Given the description of an element on the screen output the (x, y) to click on. 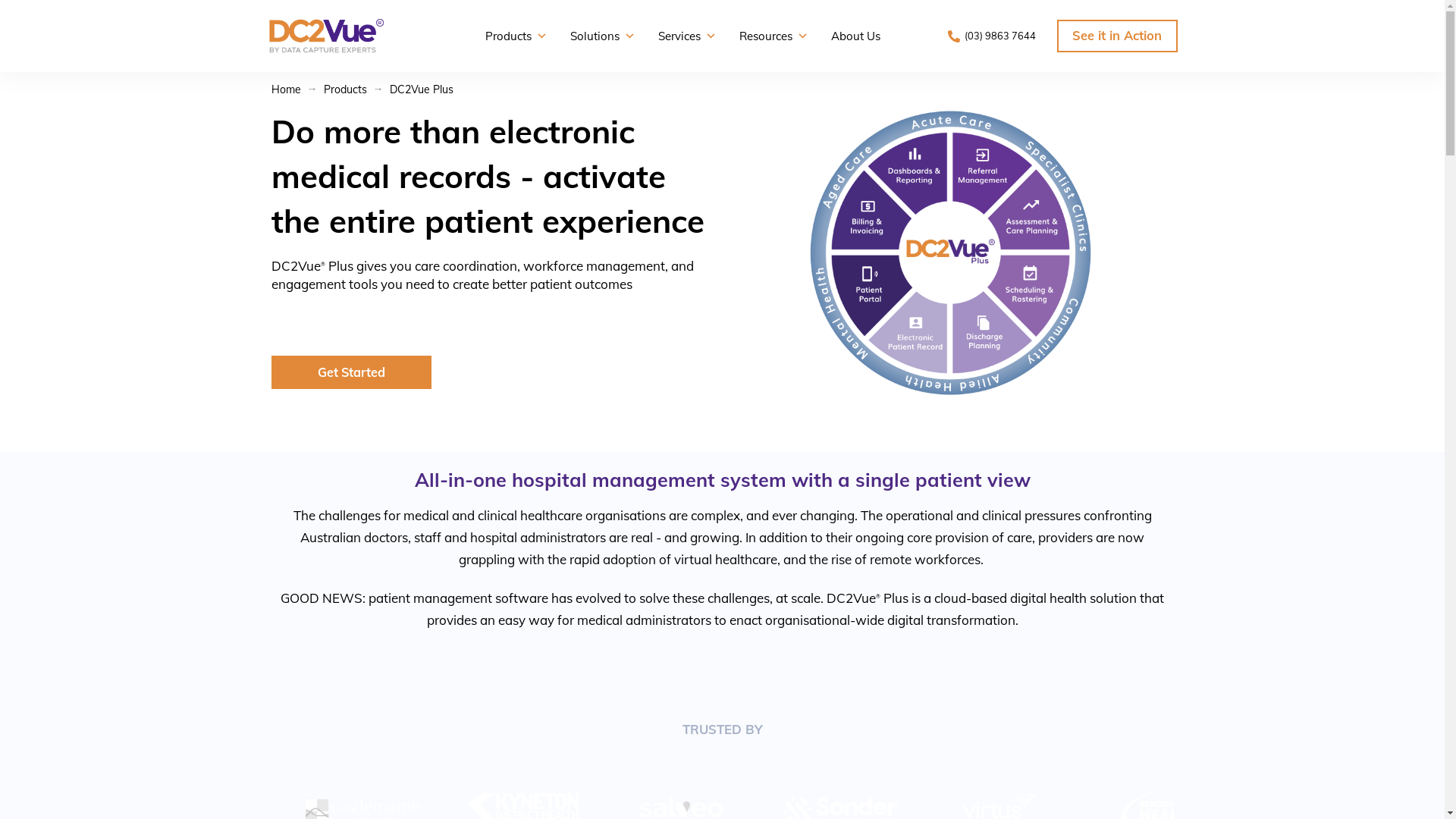
Products Element type: text (516, 36)
Products Element type: text (344, 89)
About Us Element type: text (855, 36)
Get Started Element type: text (351, 371)
Home Element type: text (286, 89)
DC2Vue Plus Element type: text (421, 89)
Services Element type: text (687, 36)
See it in Action Element type: text (1117, 35)
Solutions Element type: text (602, 36)
Resources Element type: text (773, 36)
